Given the description of an element on the screen output the (x, y) to click on. 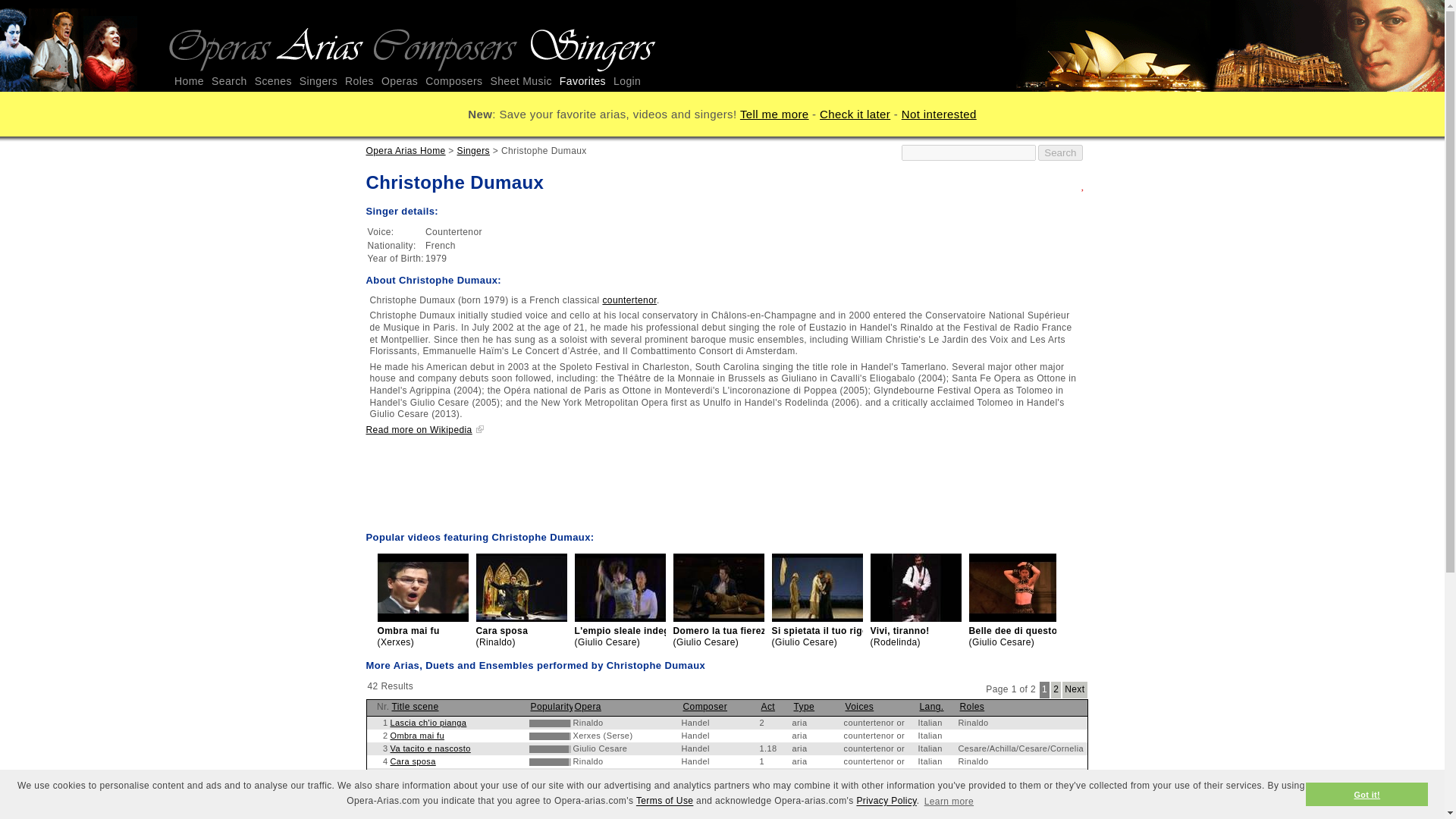
Search (1059, 152)
Popularity (552, 706)
Vivi, tiranno! (414, 799)
Act (768, 706)
Privacy Policy (885, 801)
Ombra mai fu (417, 735)
Composer (704, 706)
Mezzo-Soprano or CounterTenor (878, 813)
Title scene (414, 706)
Dove sei? (409, 786)
Check it later (854, 113)
Read more on Wikipedia (424, 429)
Type (803, 706)
Voices (858, 706)
Lang. (930, 706)
